Given the description of an element on the screen output the (x, y) to click on. 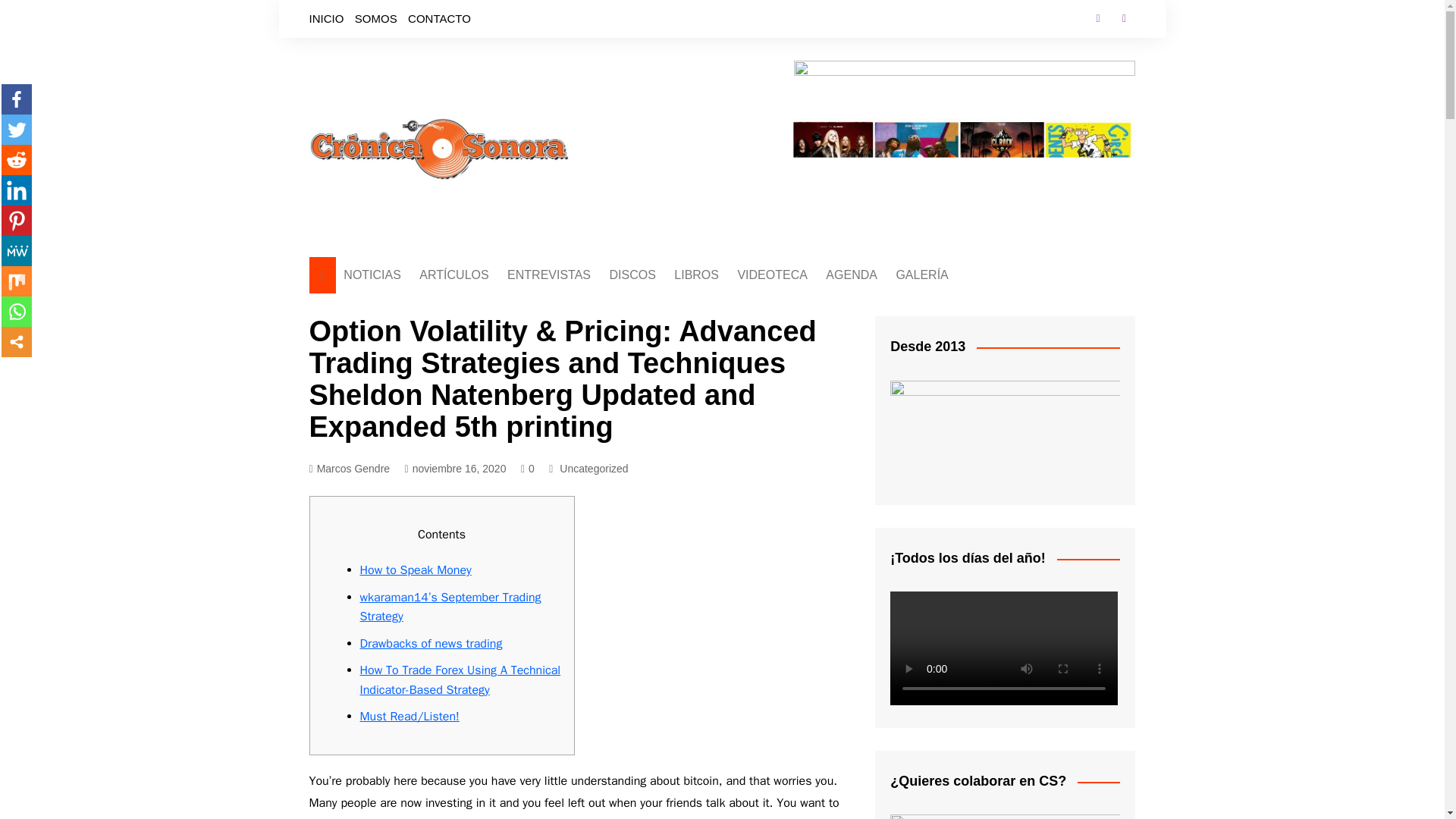
Uncategorized (593, 468)
MeWe (16, 250)
How to Speak Money (414, 570)
CONTACTO (438, 18)
Facebook (1097, 18)
SOMOS (376, 18)
Twitter (16, 129)
Marcos Gendre (349, 468)
INICIO (325, 18)
